Given the description of an element on the screen output the (x, y) to click on. 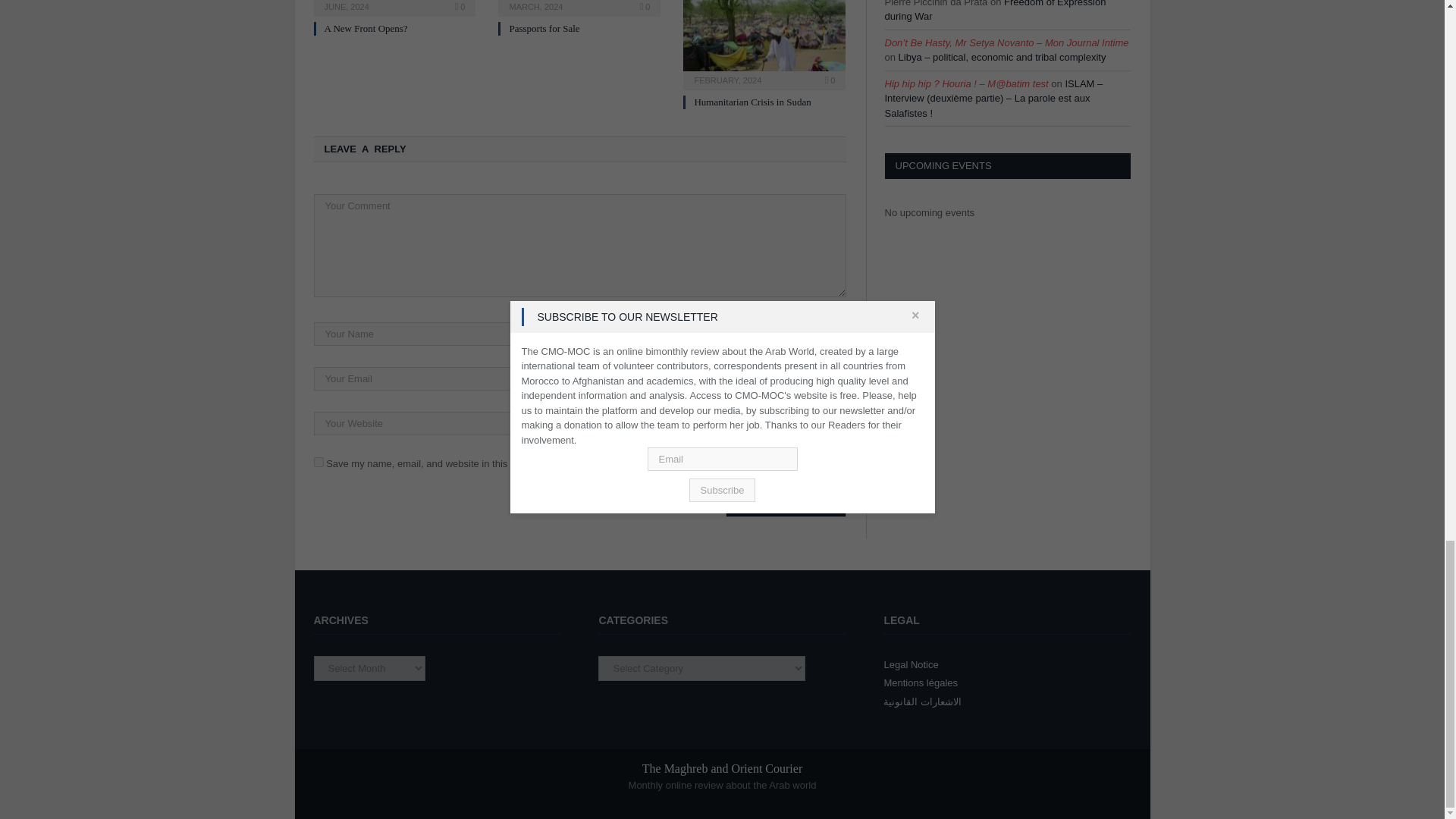
Post Comment (785, 504)
yes (318, 461)
